Given the description of an element on the screen output the (x, y) to click on. 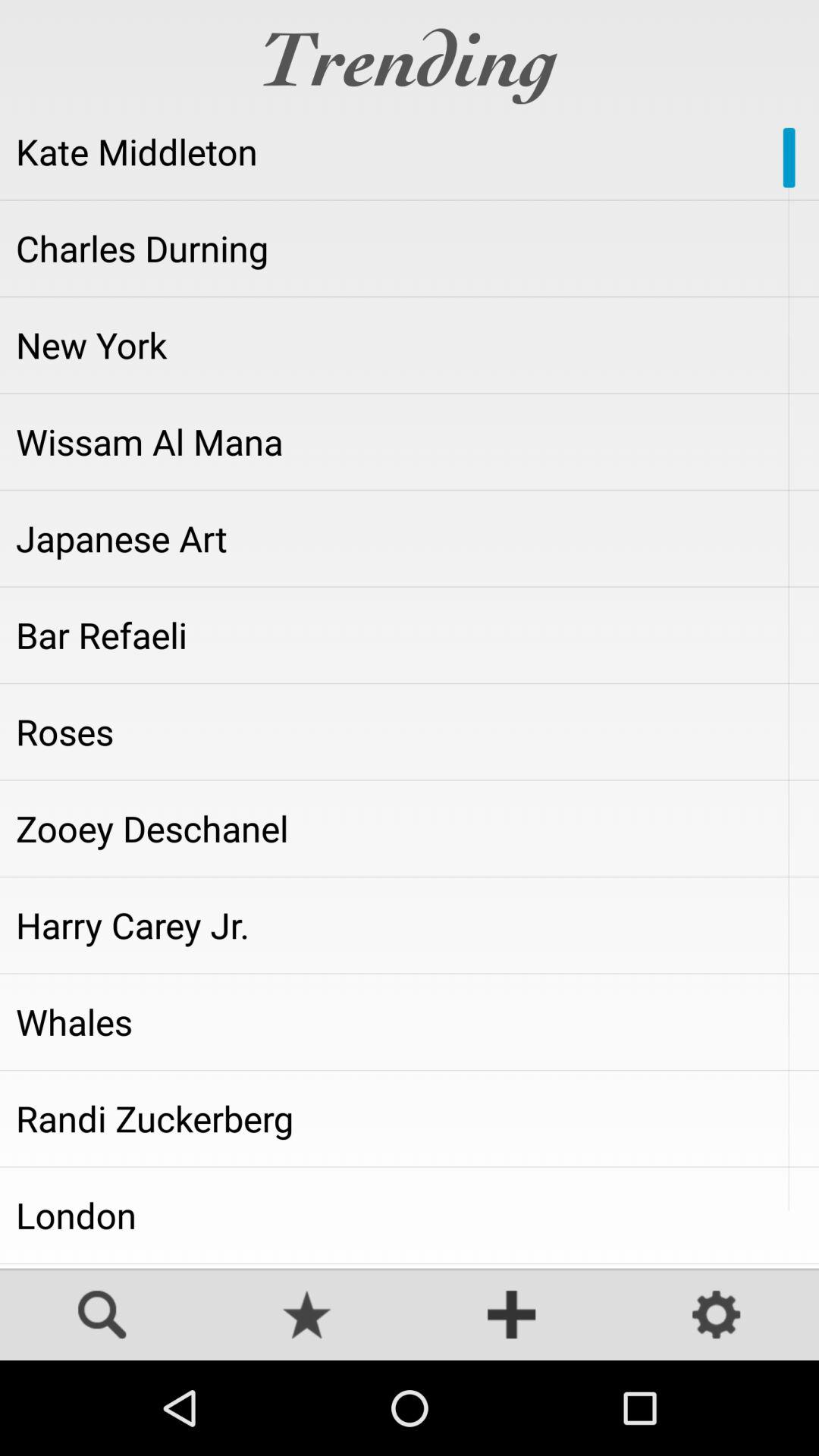
turn on icon below the japanese art app (409, 635)
